Given the description of an element on the screen output the (x, y) to click on. 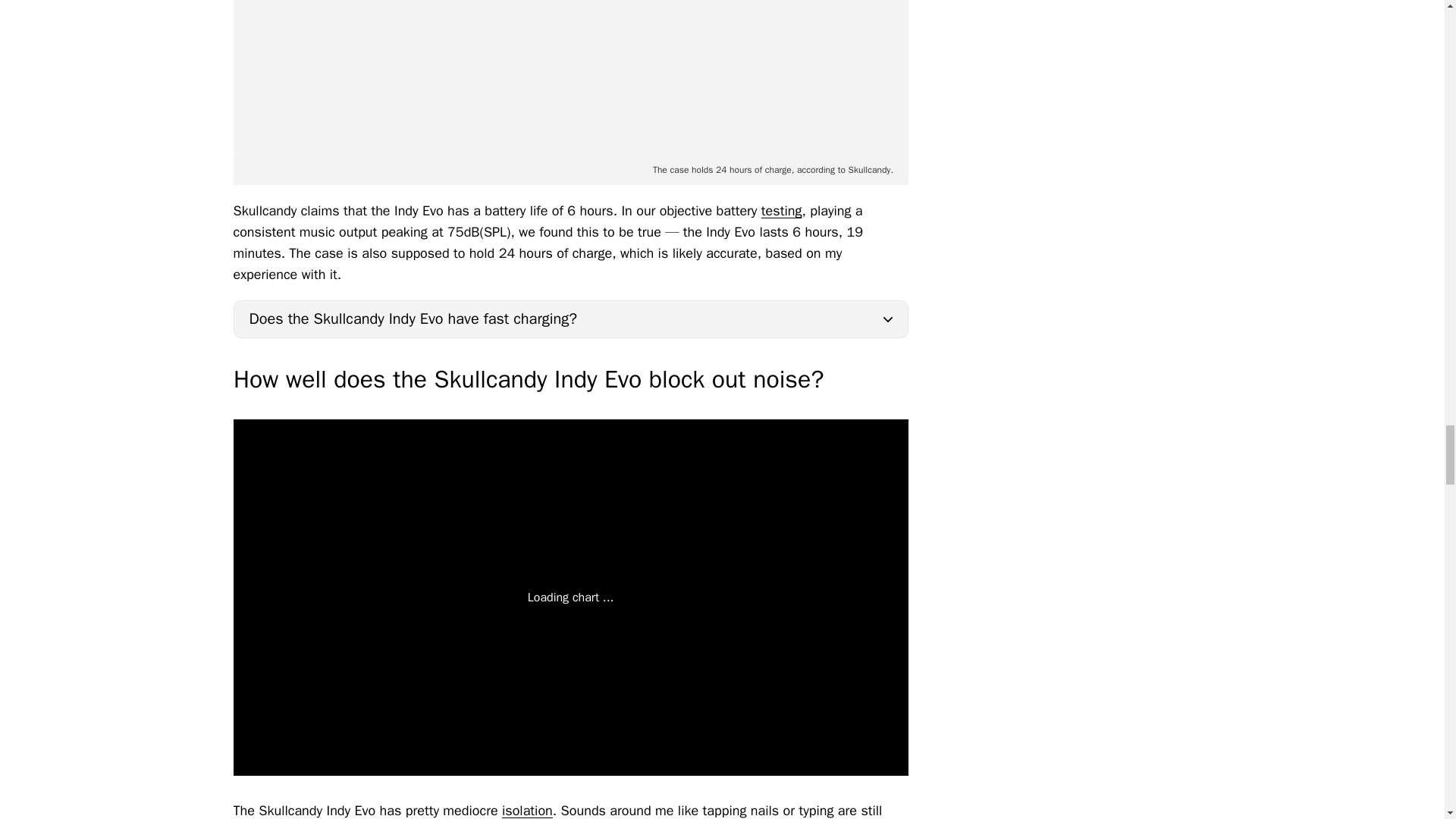
Does the Skullcandy Indy Evo have fast charging? (570, 319)
testing (781, 210)
isolation (527, 810)
skullcandy indy evo case (570, 77)
